Given the description of an element on the screen output the (x, y) to click on. 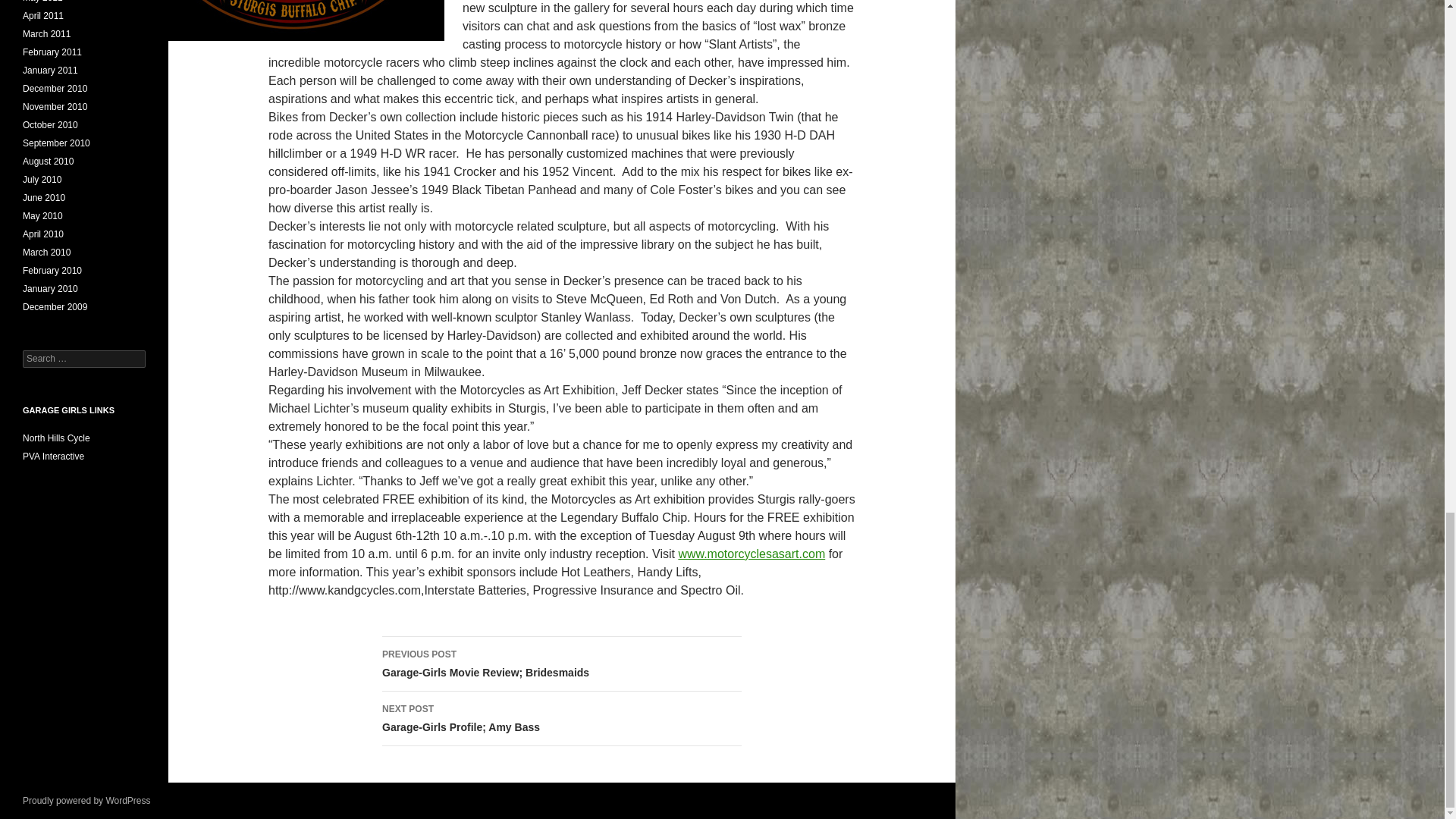
www.motorcyclesasart.com (751, 553)
slantartist (292, 20)
Search for: (561, 664)
